Given the description of an element on the screen output the (x, y) to click on. 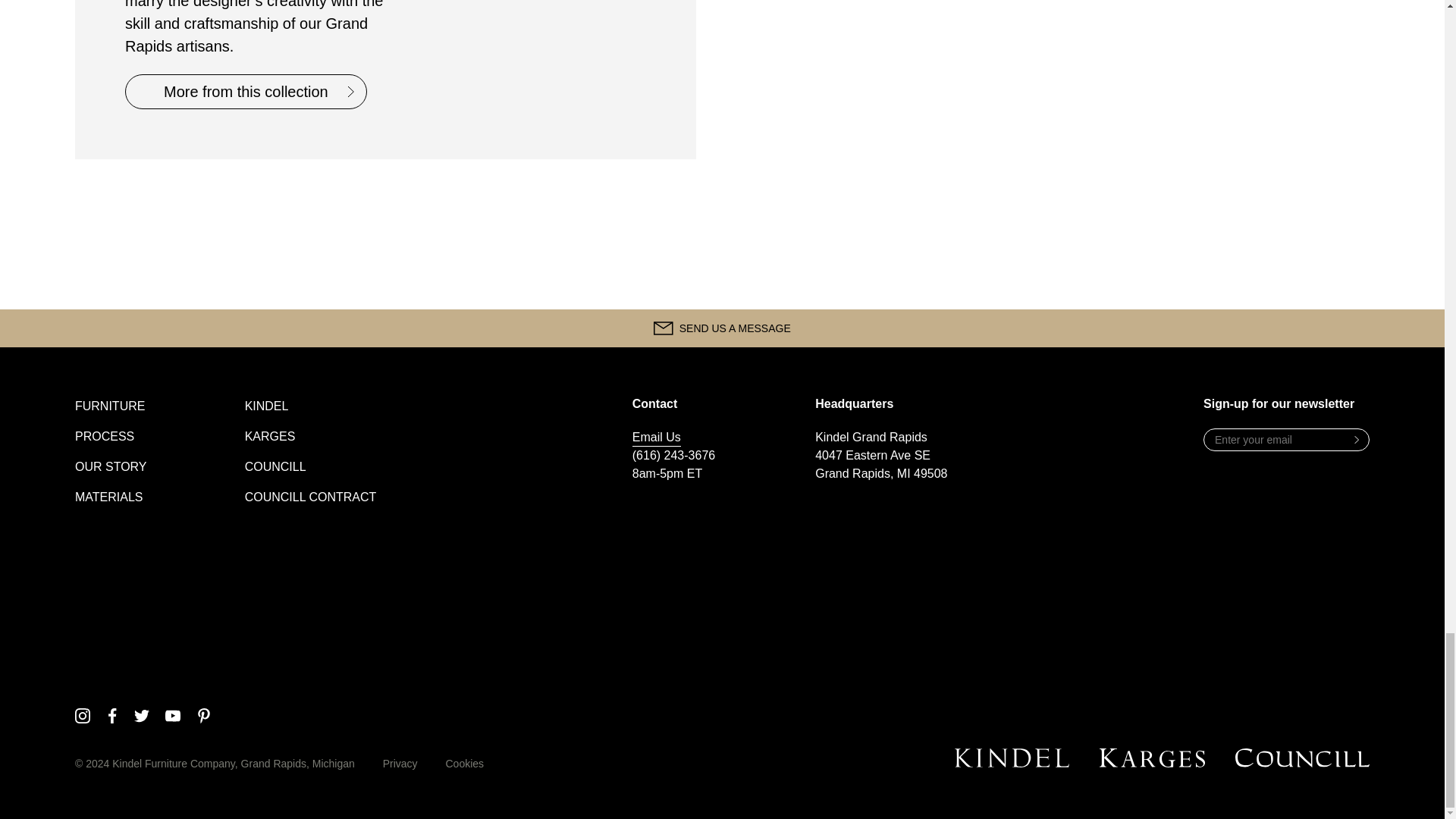
MATERIALS (108, 497)
Twitter (141, 715)
KINDEL (266, 406)
YouTube (172, 715)
Privacy (399, 763)
FURNITURE (109, 406)
COUNCILL (274, 466)
PROCESS (104, 436)
More from this collection (245, 91)
